Given the description of an element on the screen output the (x, y) to click on. 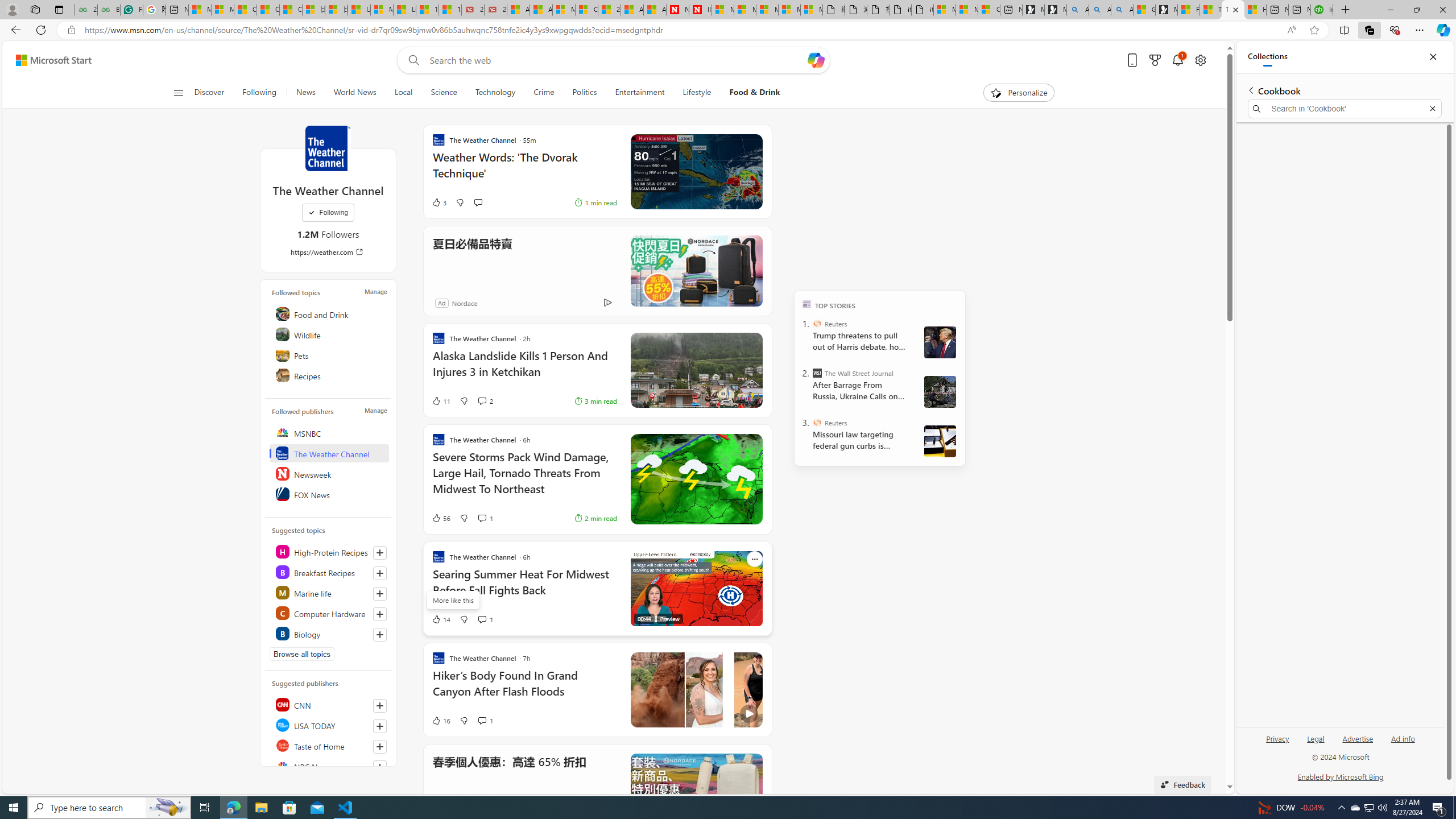
The Weather Channel (327, 148)
Taste of Home (328, 745)
The Wall Street Journal (816, 372)
20 Ways to Boost Your Protein Intake at Every Meal (609, 9)
